Given the description of an element on the screen output the (x, y) to click on. 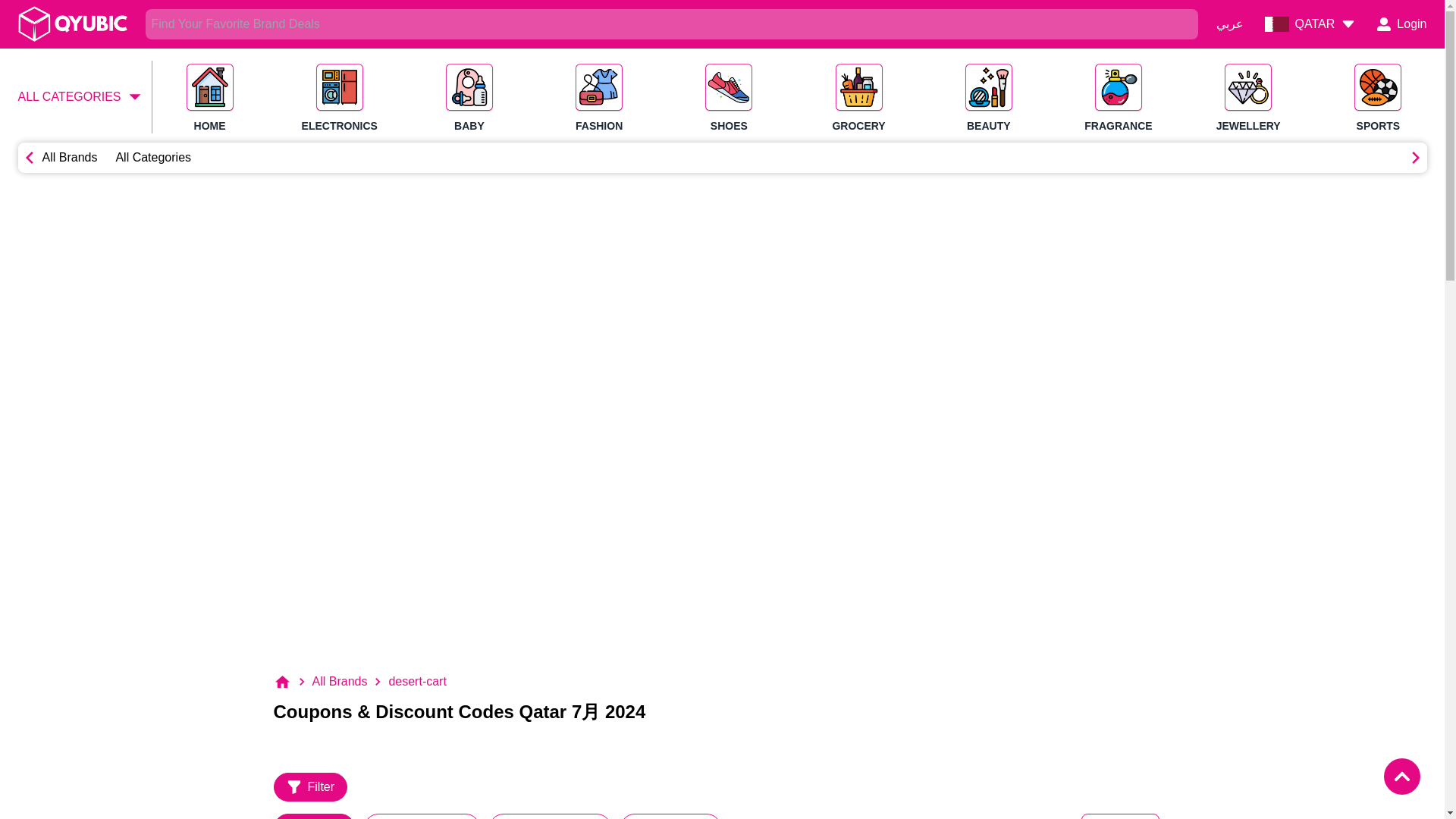
SPORTS (1376, 98)
Beauty Category Coupons and Discount Codes Qatar (988, 87)
FRAGRANCE (1117, 98)
All Categories (152, 157)
ELECTRONICS (338, 98)
SHOES (729, 98)
Sort By (1119, 816)
All Brands (721, 157)
ALL CATEGORIES (69, 157)
BEAUTY (79, 96)
GROCERY (988, 98)
All Brands (858, 98)
Shoes Category Coupons and Discount Codes Qatar (69, 157)
Jewellery Category Coupons and Discount Codes Qatar (728, 87)
